Given the description of an element on the screen output the (x, y) to click on. 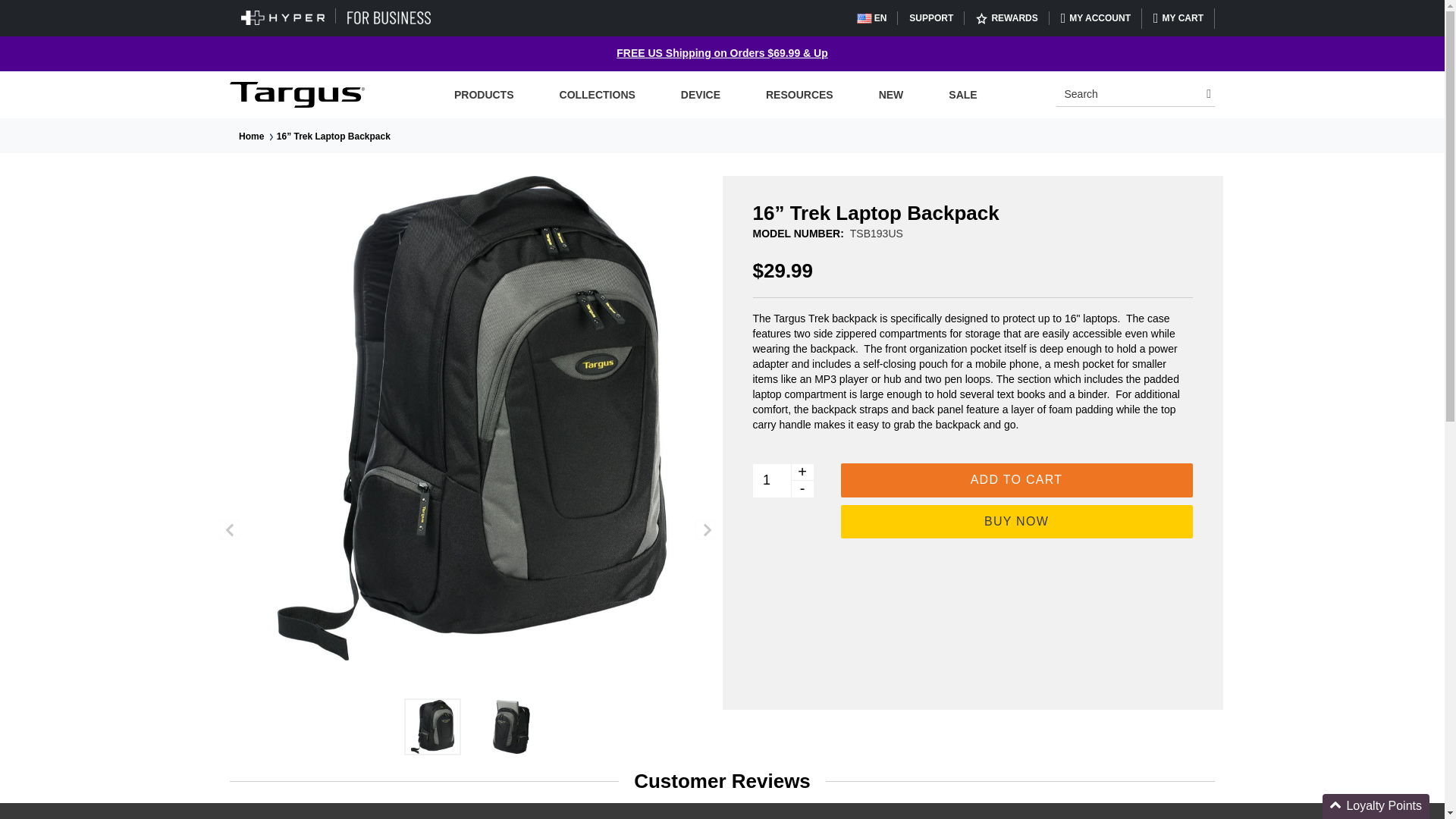
1 (778, 480)
PRODUCTS (483, 94)
COLLECTIONS (597, 94)
SUPPORT (930, 18)
SALE (962, 94)
Buy Now (1016, 521)
REWARDS (1005, 18)
MY CART (1177, 18)
RESOURCES (799, 94)
EN (872, 18)
DEVICE (700, 94)
MY ACCOUNT (1095, 18)
NEW (891, 94)
